Given the description of an element on the screen output the (x, y) to click on. 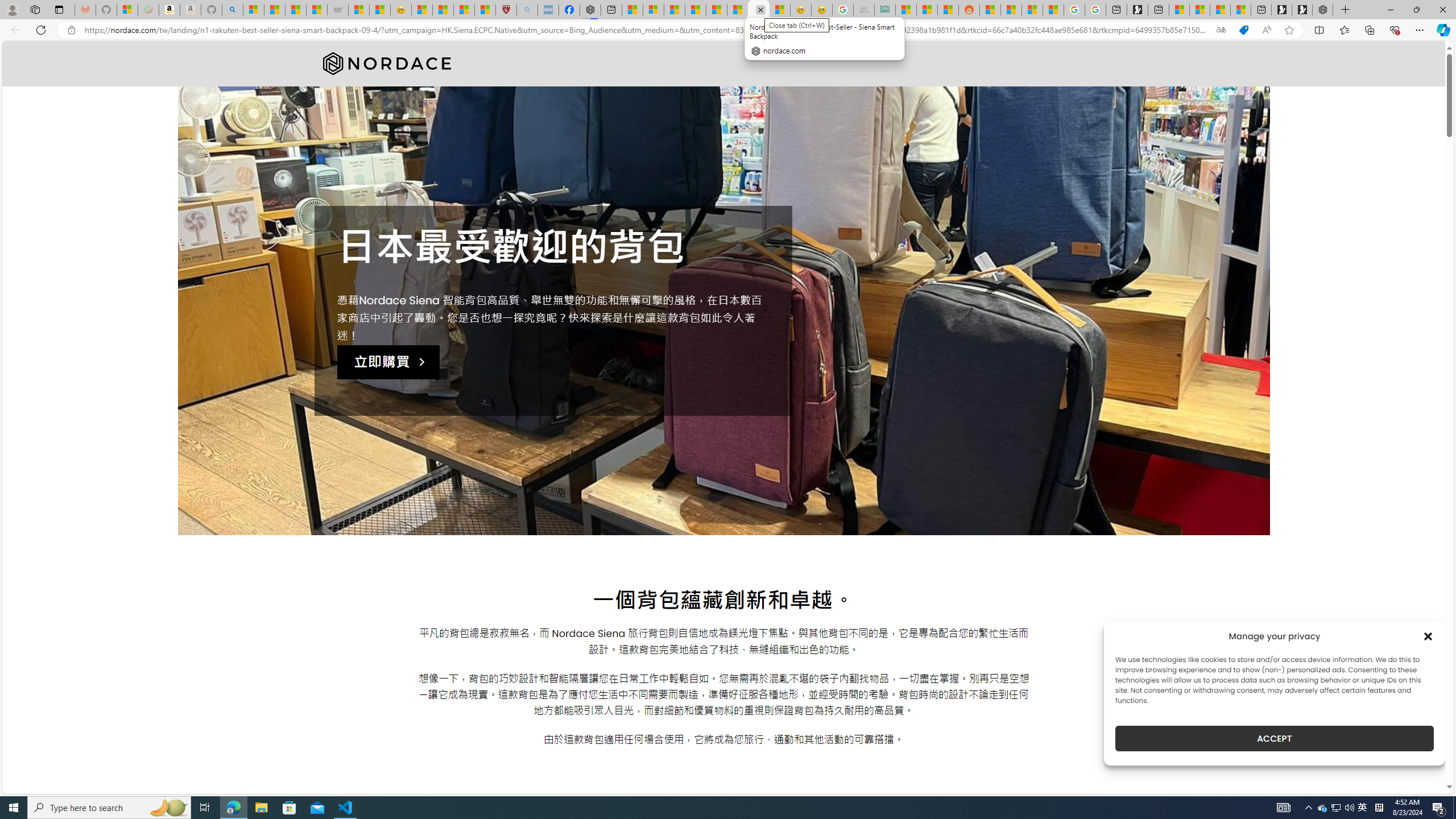
list of asthma inhalers uk - Search - Sleeping (527, 9)
Settings and more (Alt+F) (1419, 29)
Microsoft-Report a Concern to Bing (127, 9)
Collections (1369, 29)
Workspaces (34, 9)
Science - MSN (463, 9)
Split screen (1318, 29)
These 3 Stocks Pay You More Than 5% to Own Them (1240, 9)
Combat Siege (337, 9)
View site information (70, 29)
ACCEPT (1274, 738)
